Given the description of an element on the screen output the (x, y) to click on. 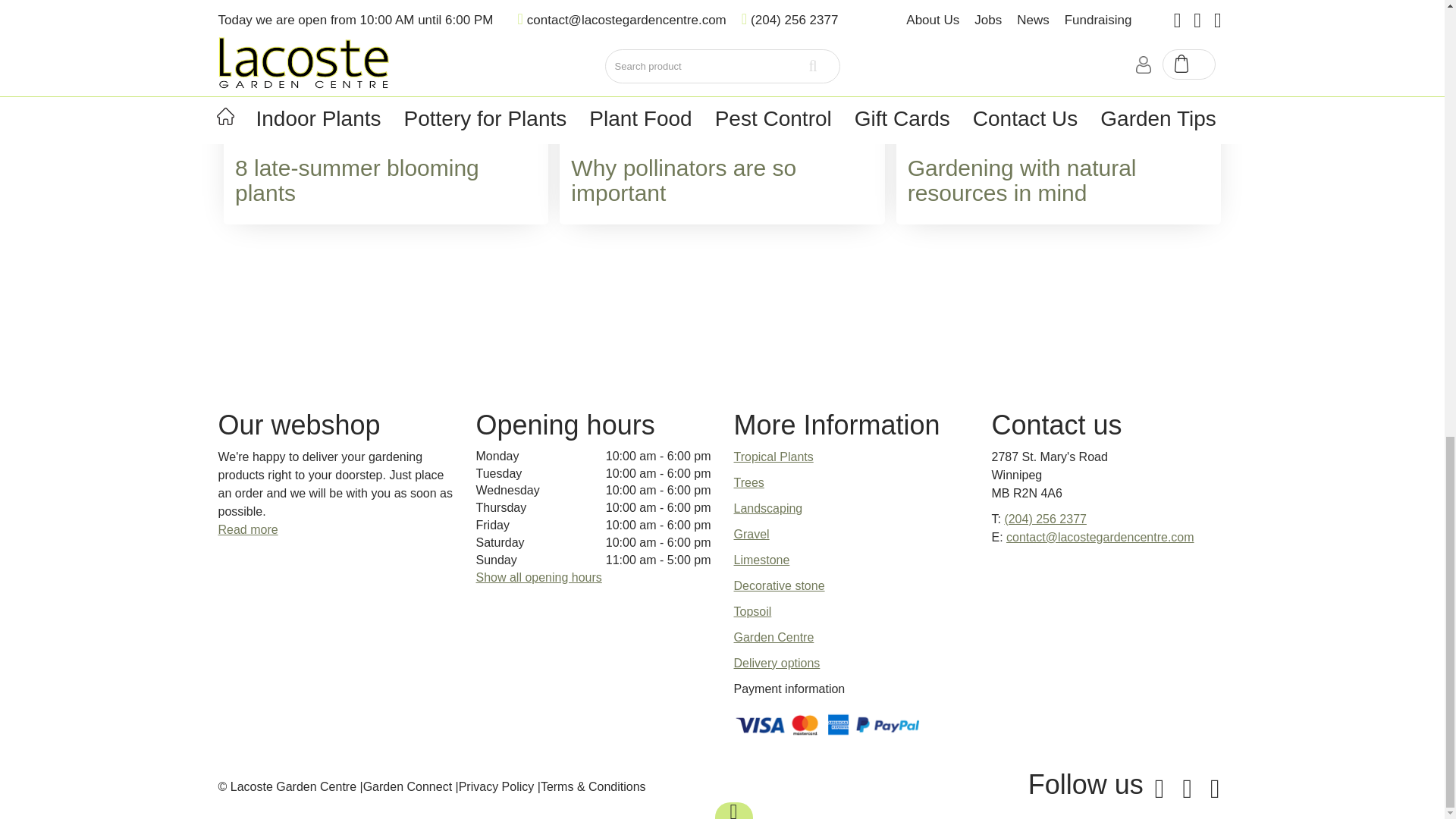
Show all opening hours (539, 576)
Read more (248, 529)
Landscaping (768, 508)
8 late-summer blooming plants (356, 180)
Tropical Plants (773, 456)
Why pollinators are so important (683, 180)
Trees (748, 481)
Gardening with natural resources in mind (1022, 180)
